Given the description of an element on the screen output the (x, y) to click on. 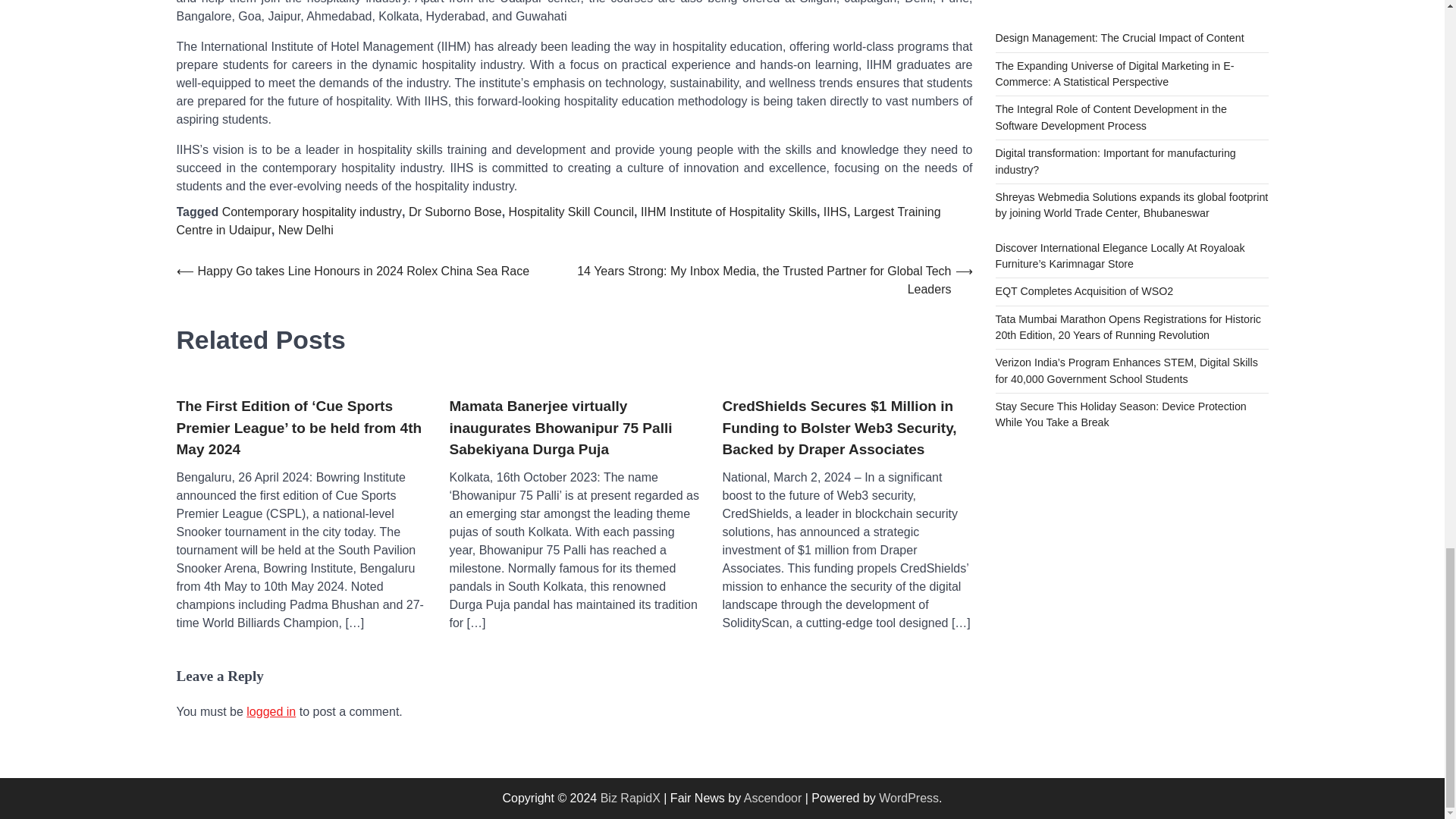
IIHS (835, 211)
Contemporary hospitality industry (311, 211)
Largest Training Centre in Udaipur (558, 220)
IIHM Institute of Hospitality Skills (728, 211)
Dr Suborno Bose (455, 211)
Hospitality Skill Council (570, 211)
logged in (270, 711)
New Delhi (305, 229)
